Given the description of an element on the screen output the (x, y) to click on. 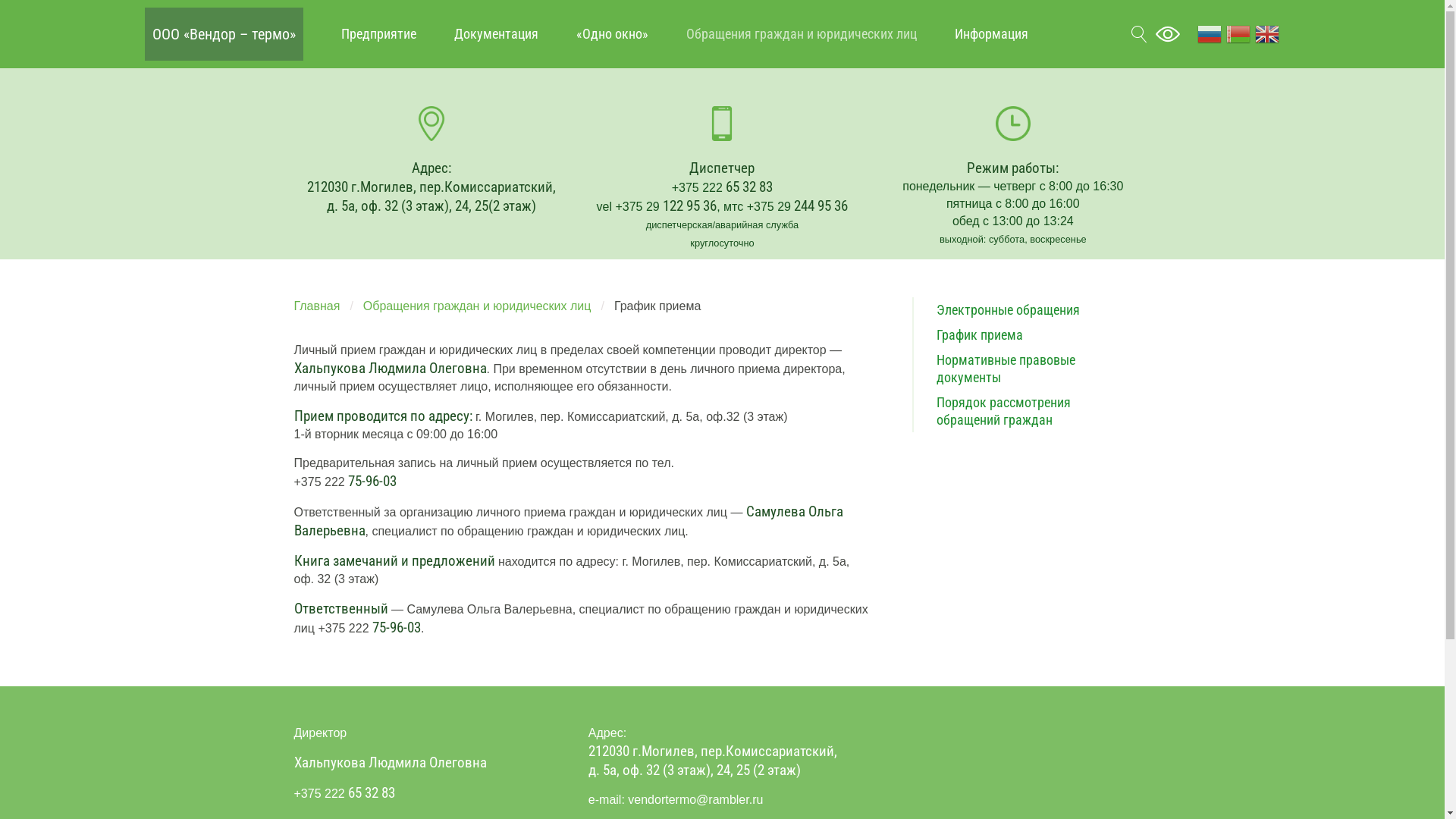
Belarusian Element type: hover (1237, 32)
Russian Element type: hover (1209, 32)
English Element type: hover (1266, 32)
